Given the description of an element on the screen output the (x, y) to click on. 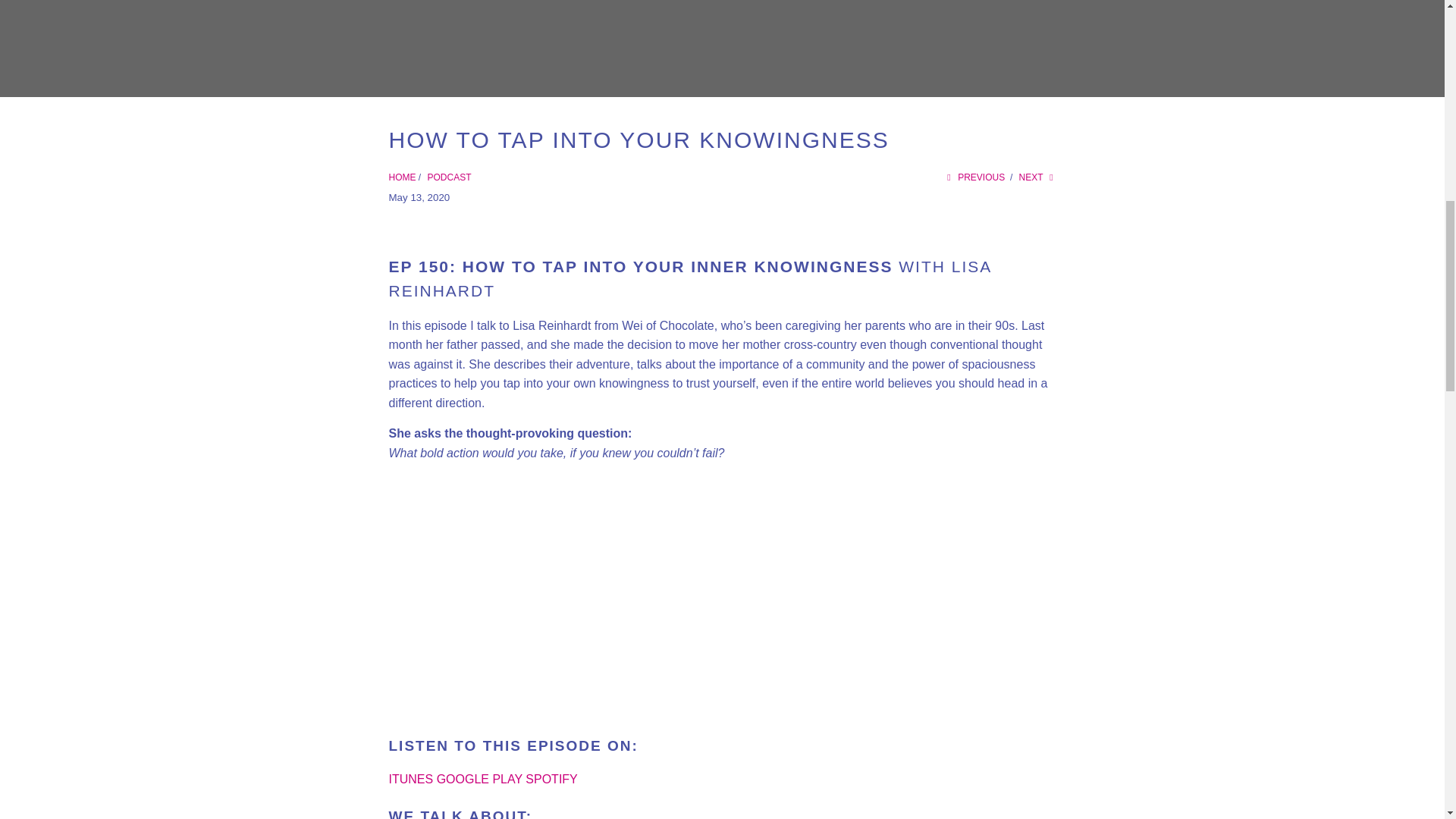
LOTUSWEI (401, 176)
Podcast (449, 176)
